Given the description of an element on the screen output the (x, y) to click on. 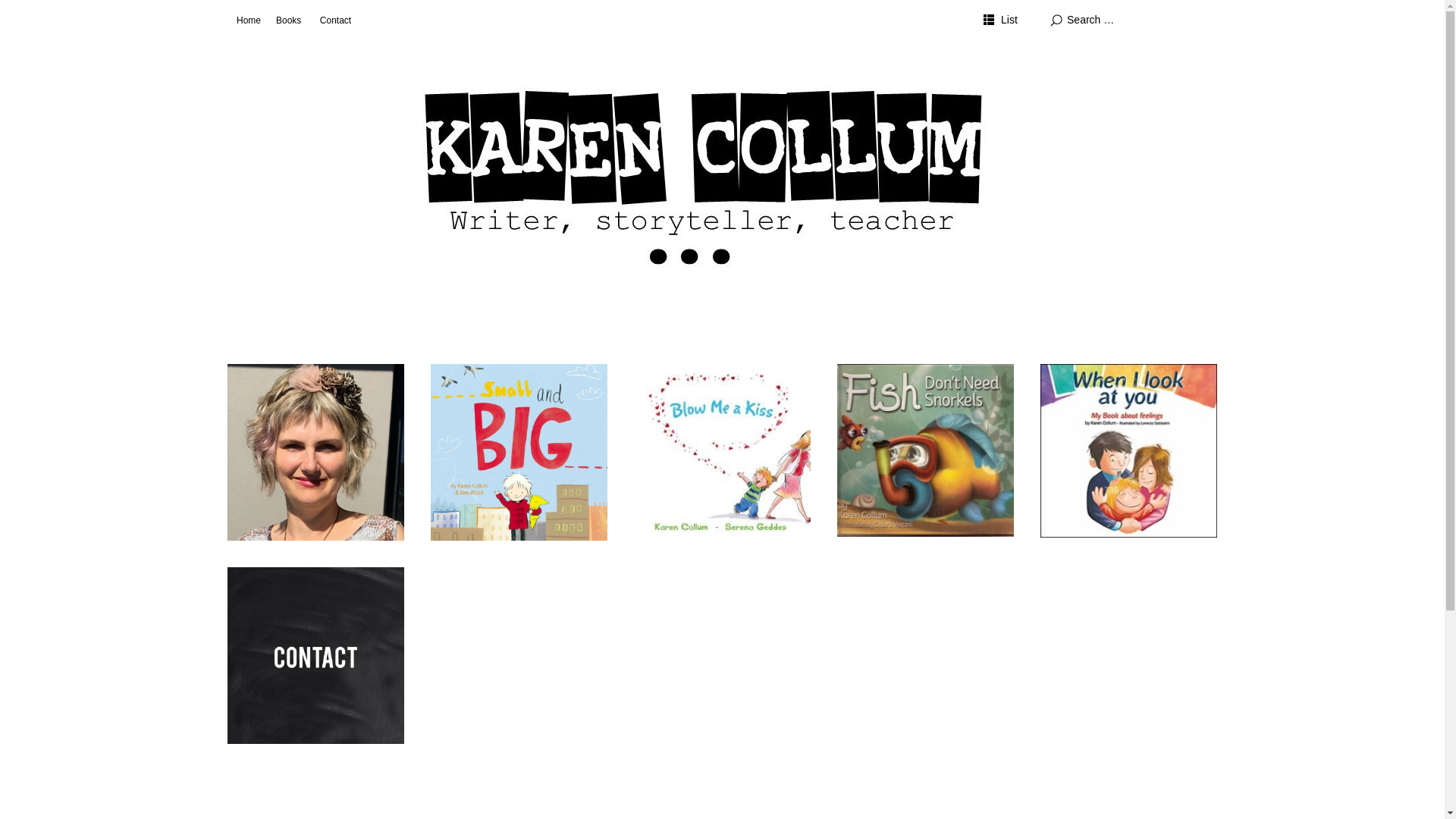
Contact Element type: text (335, 20)
Permalink to Contact Element type: hover (315, 655)
Permalink to Blow Me a Kiss Element type: hover (721, 452)
Permalink to Small and Big Element type: hover (518, 452)
Permalink to When I Look at You Element type: hover (1128, 450)
Permalink to About Element type: hover (315, 452)
Home Element type: text (248, 20)
List Element type: text (1000, 20)
Search Element type: text (163, 12)
Books Element type: text (288, 20)
